Given the description of an element on the screen output the (x, y) to click on. 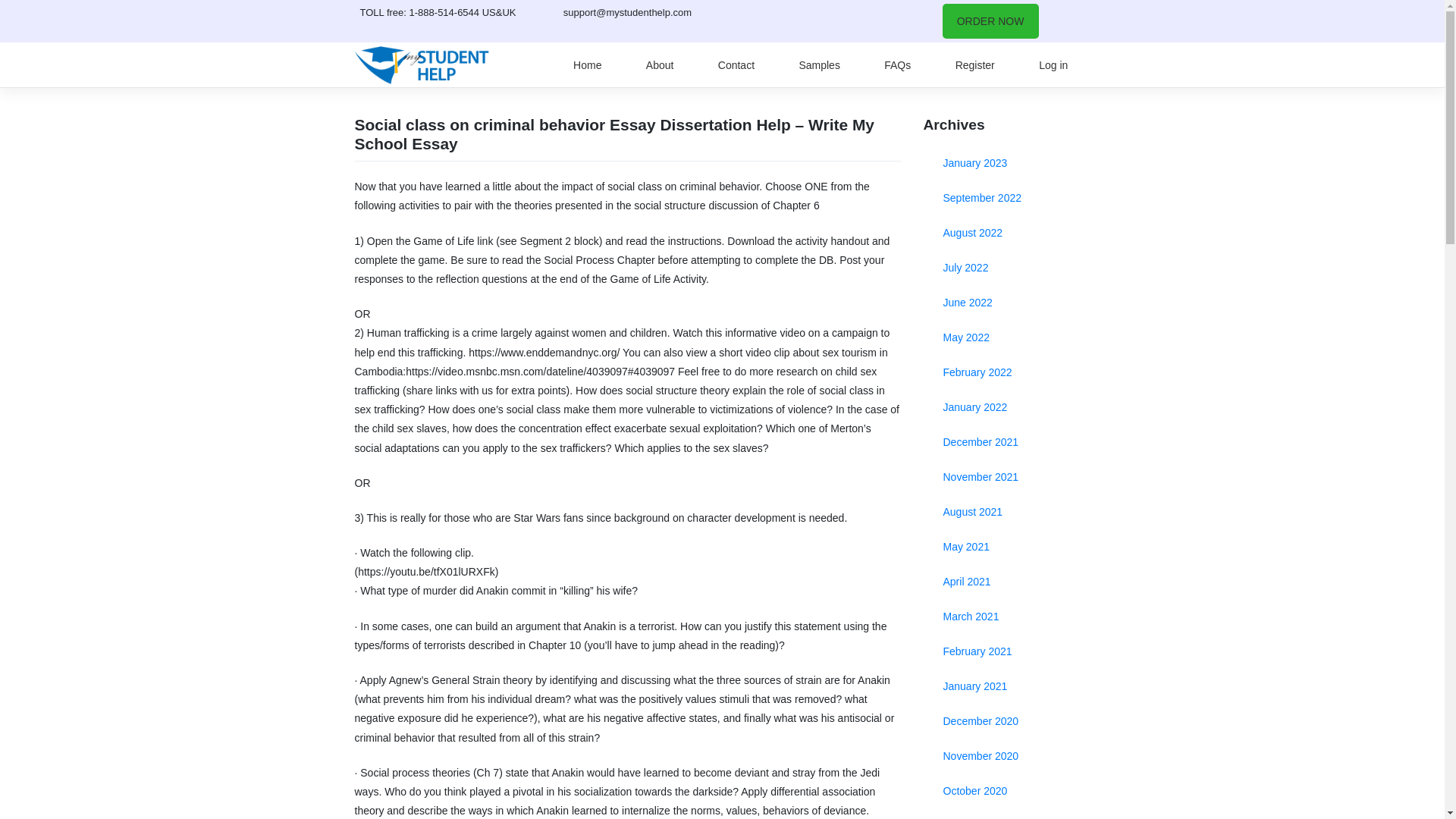
Samples (819, 64)
Home (587, 64)
January 2022 (1007, 407)
Register (974, 64)
May 2022 (1007, 337)
Samples (819, 64)
ORDER NOW (990, 21)
Log in (1054, 64)
September 2022 (1007, 197)
December 2020 (1007, 720)
